Given the description of an element on the screen output the (x, y) to click on. 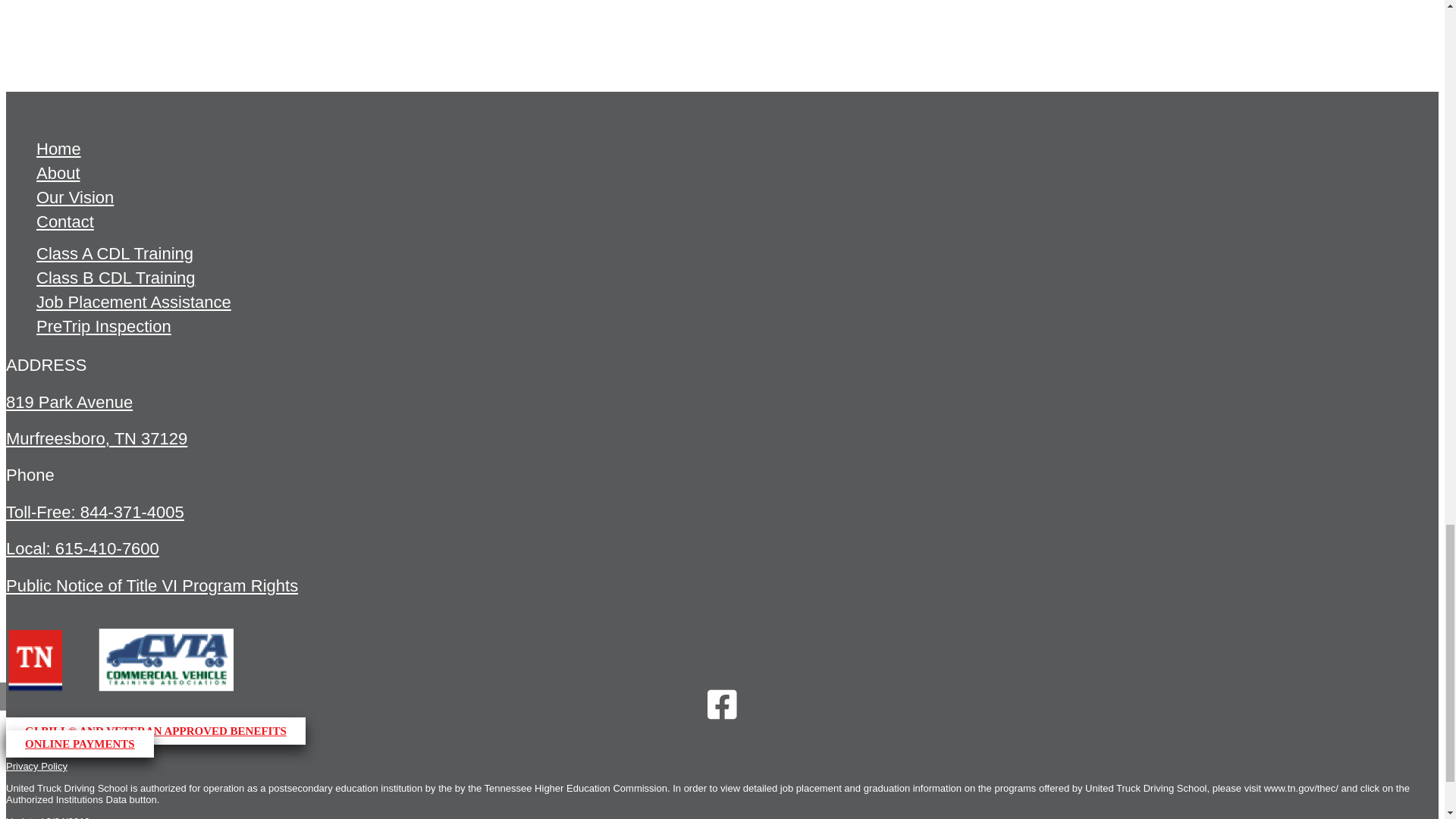
Class A CDL Training (114, 255)
Our Vision (74, 198)
About (58, 174)
Home (58, 150)
Contact (65, 223)
